Given the description of an element on the screen output the (x, y) to click on. 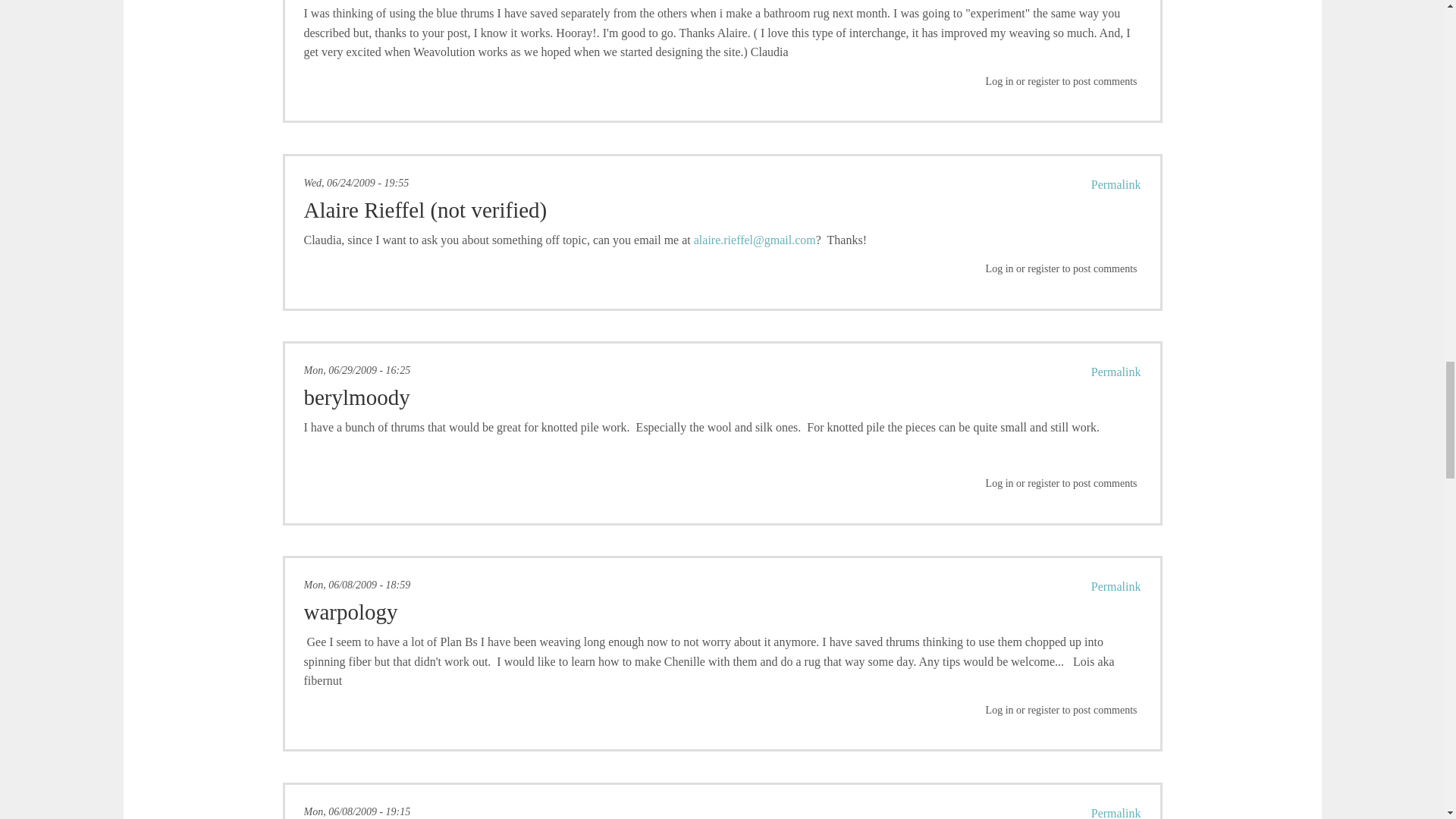
Log in (999, 81)
register (1043, 81)
